Given the description of an element on the screen output the (x, y) to click on. 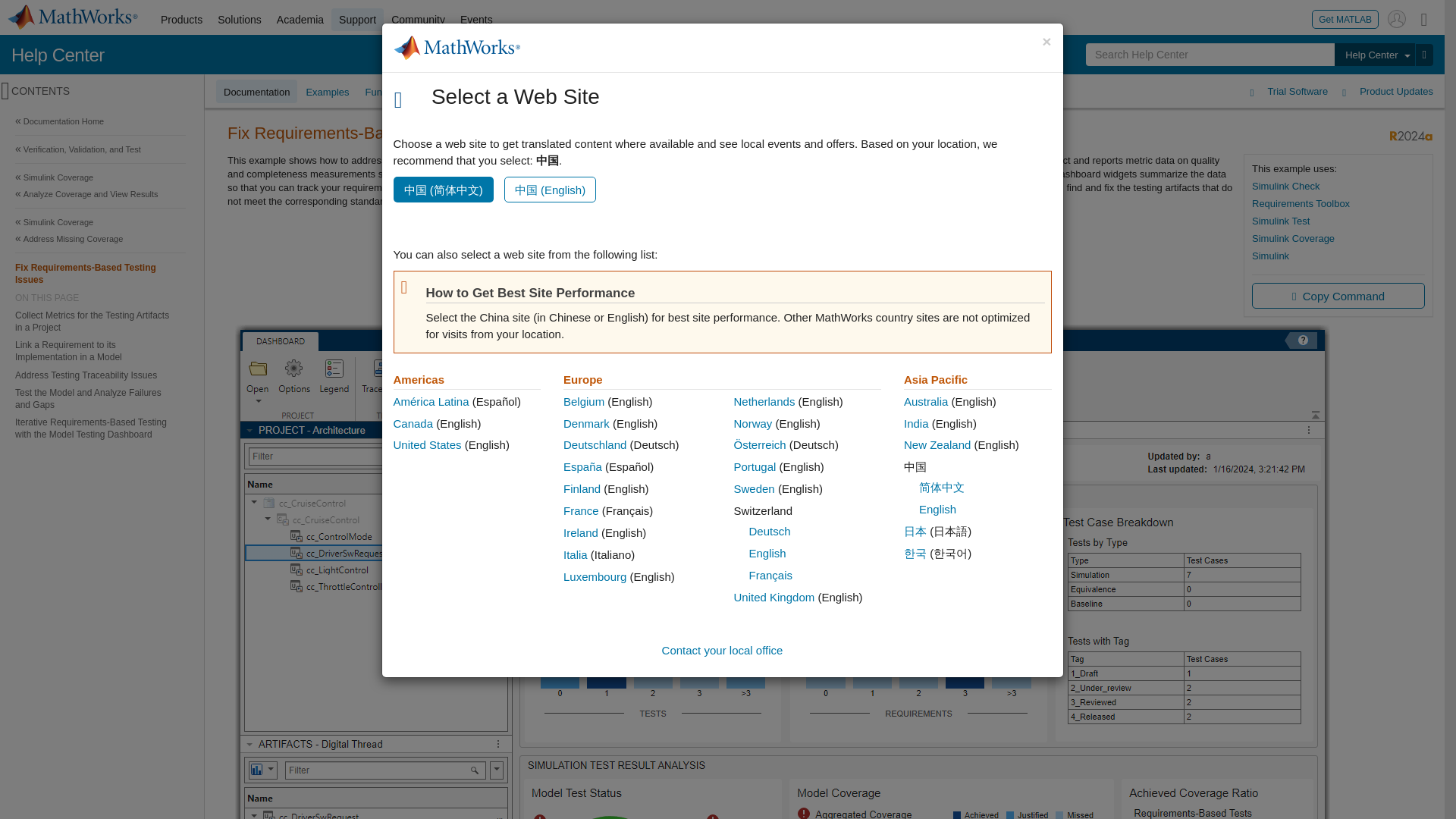
Get MATLAB (1344, 18)
Events (476, 19)
Solutions (239, 19)
Sign In to Your MathWorks Account (1396, 18)
Support (357, 19)
Fix Requirements-Based Testing Issues (100, 273)
Community (418, 19)
ON THIS PAGE (100, 297)
Products (180, 19)
Academia (300, 19)
Matrix Menu (1423, 18)
